Given the description of an element on the screen output the (x, y) to click on. 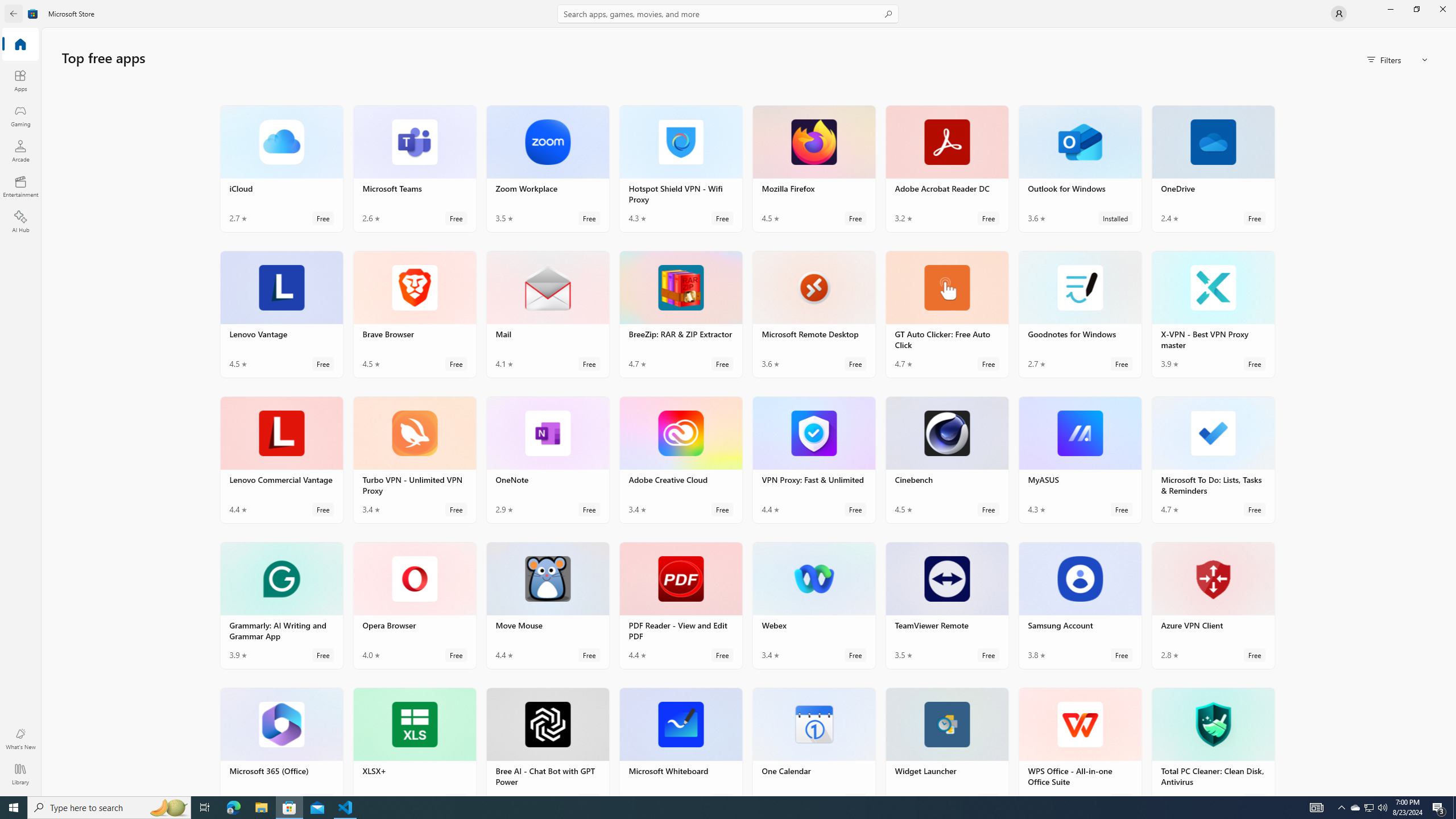
MyASUS. Average rating of 4.3 out of five stars. Free   (1079, 459)
OneDrive. Average rating of 2.4 out of five stars. Free   (1213, 167)
